Given the description of an element on the screen output the (x, y) to click on. 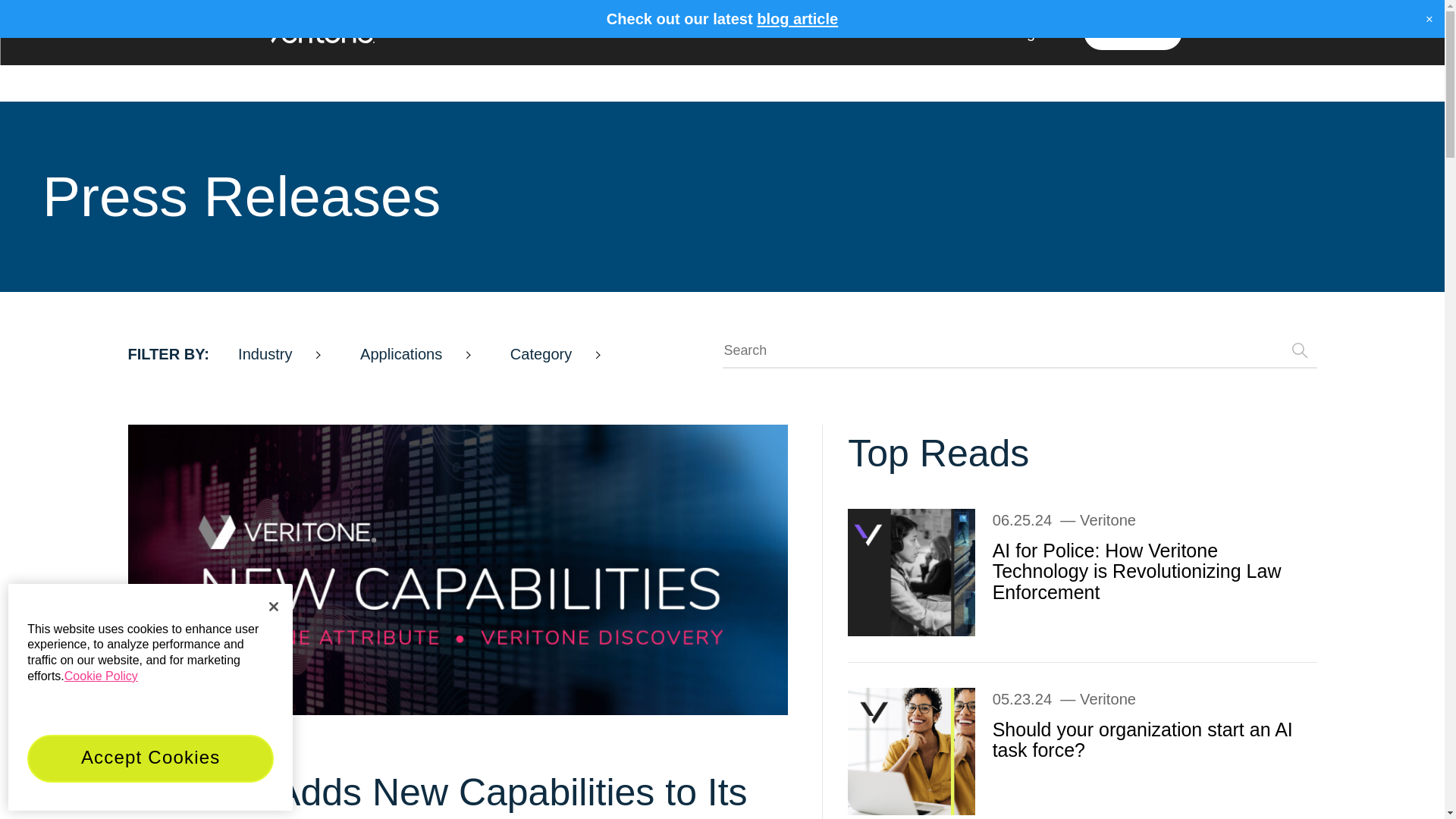
blog article (797, 18)
. (318, 32)
54101Should your organization start an AI task force? (1142, 740)
AI solutions (487, 30)
Posts by Veritone (1107, 519)
Should your organization start an AI task force? (911, 750)
Posts by Veritone (1107, 699)
Posts by Veritone (230, 751)
